Given the description of an element on the screen output the (x, y) to click on. 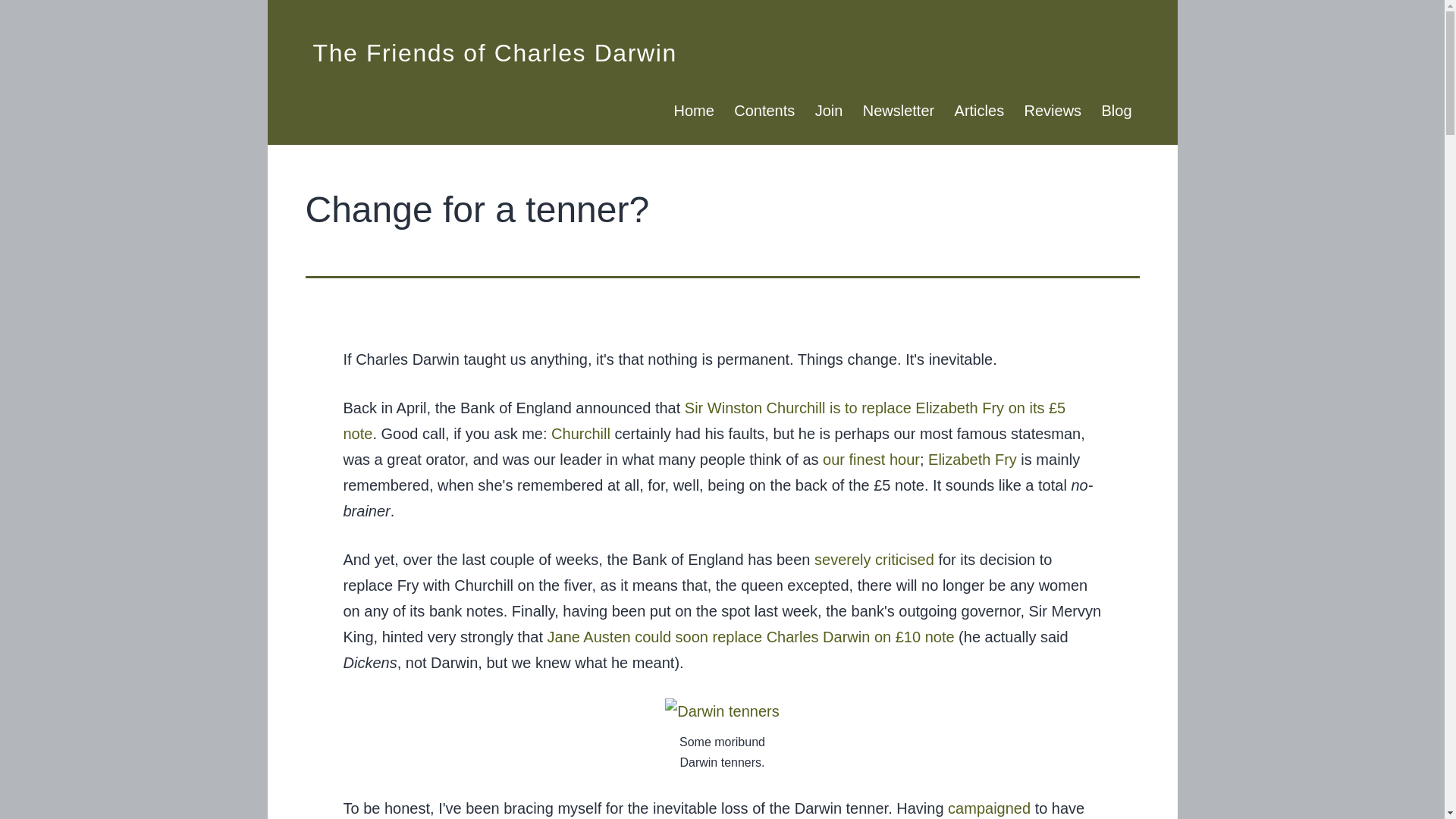
The Friends of Charles Darwin: About the Bank Note Campaign (988, 808)
Churchill (580, 433)
Join (828, 110)
Wikipedia: Elizabeth Fry (972, 459)
Home (693, 110)
Blog (1115, 110)
Wikipedia: This was their finest hour (871, 459)
Reviews (1051, 110)
The Friends of Charles Darwin (495, 52)
Wikipedia: Winston Churchill (580, 433)
Elizabeth Fry (972, 459)
Contents (764, 110)
campaigned (988, 808)
Articles (978, 110)
